Given the description of an element on the screen output the (x, y) to click on. 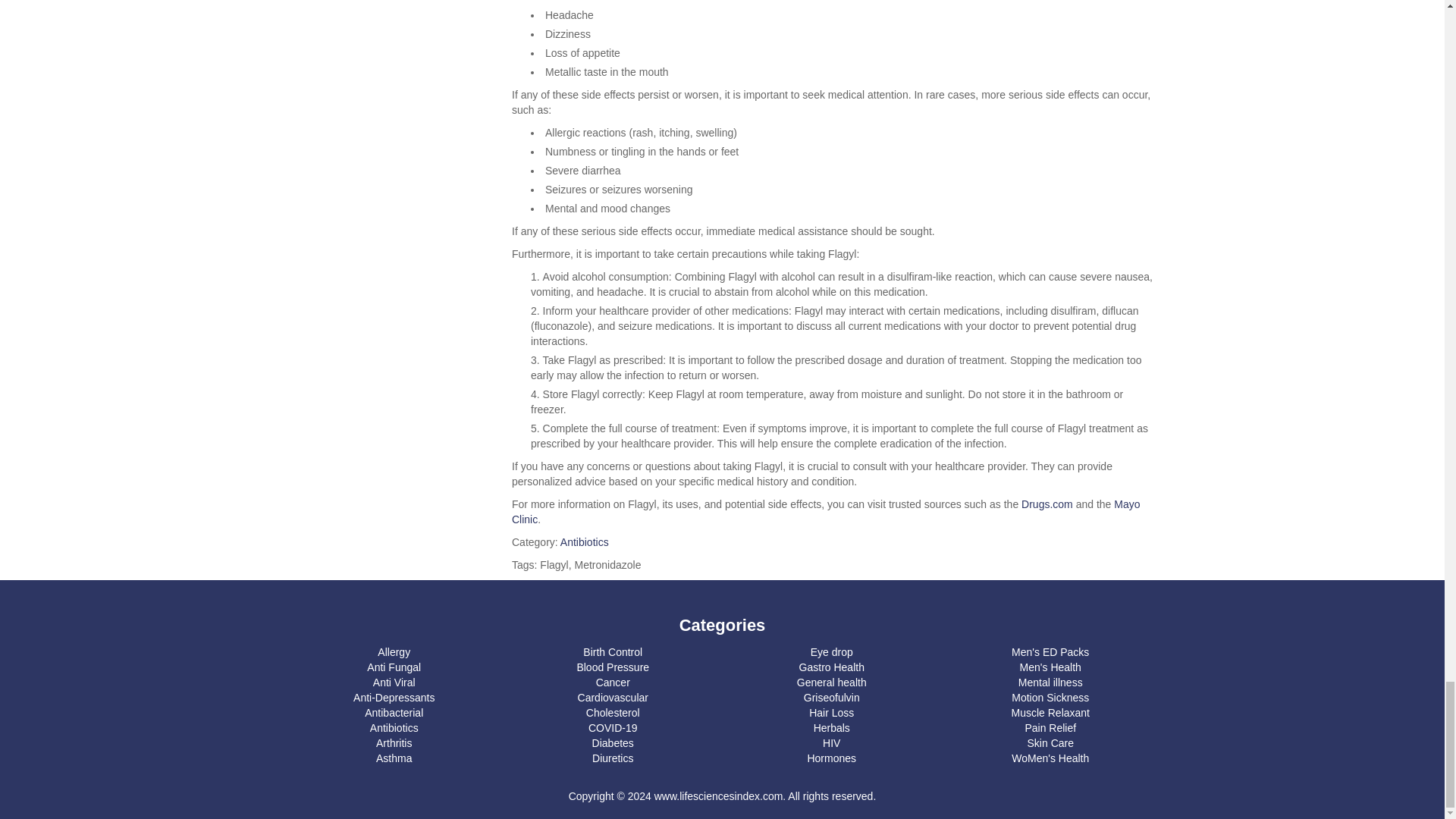
Antibiotics (584, 541)
Drugs.com (1047, 503)
Mayo Clinic (826, 511)
